Given the description of an element on the screen output the (x, y) to click on. 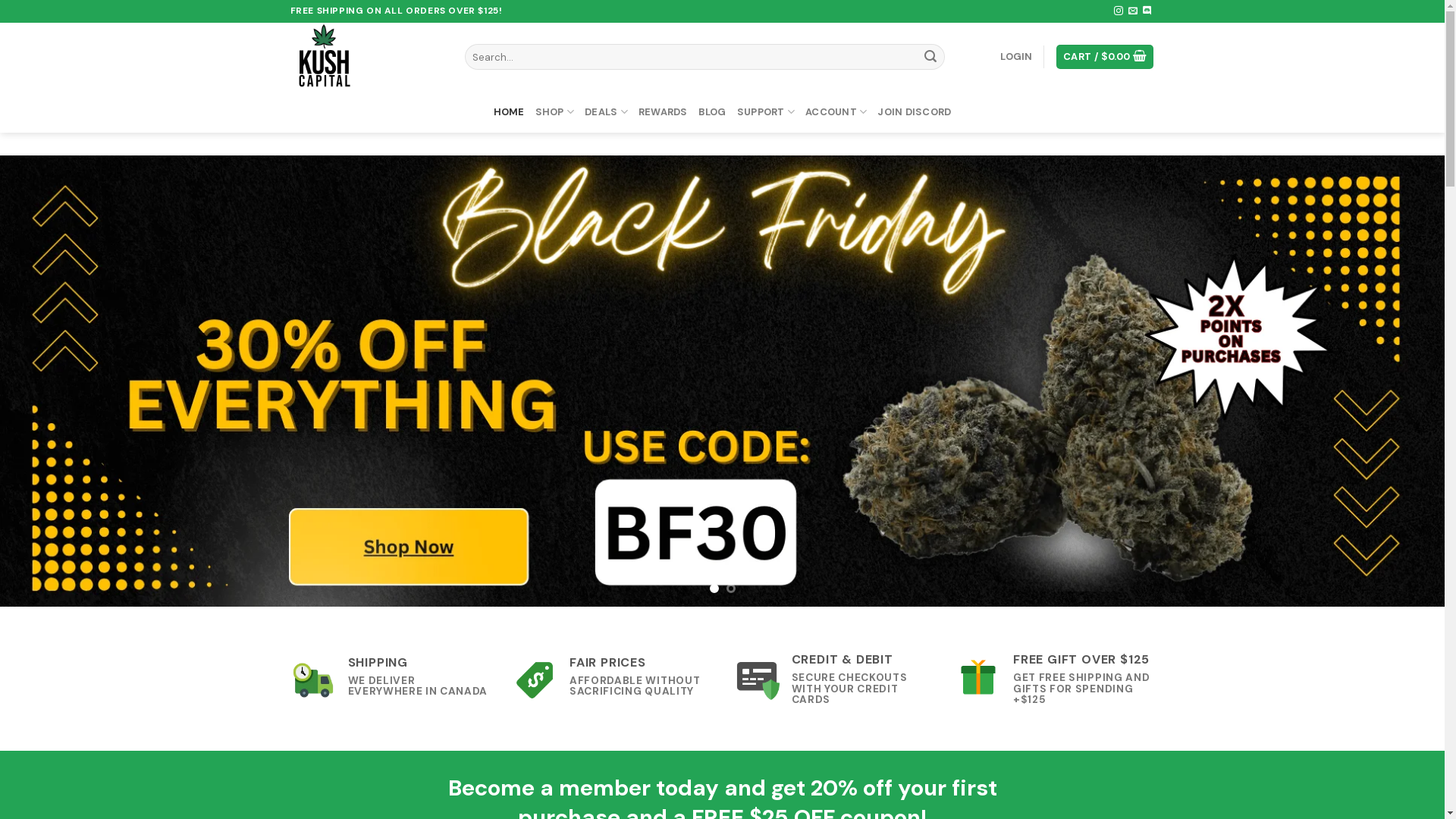
Send us an email Element type: hover (1132, 11)
CART / $0.00 Element type: text (1104, 56)
Follow on Discord Element type: hover (1146, 11)
Follow on Instagram Element type: hover (1118, 11)
BLOG Element type: text (712, 111)
DEALS Element type: text (605, 111)
REWARDS Element type: text (662, 111)
SUPPORT Element type: text (765, 111)
SHOP Element type: text (554, 111)
Search Element type: text (930, 56)
JOIN DISCORD Element type: text (913, 111)
LOGIN Element type: text (1016, 56)
HOME Element type: text (508, 111)
ACCOUNT Element type: text (835, 111)
